Given the description of an element on the screen output the (x, y) to click on. 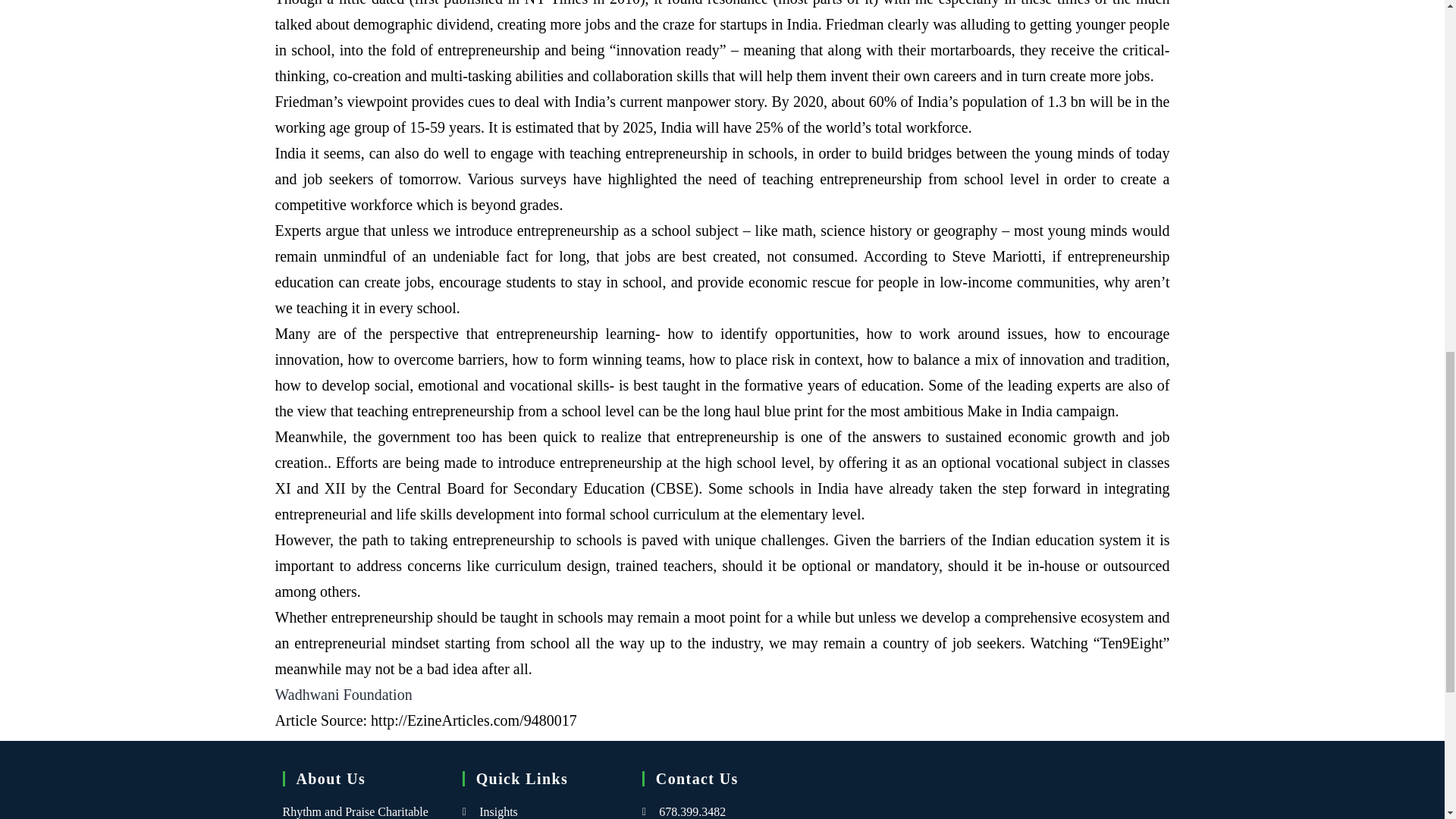
One West Court Square Suite 750 Decatur, Ga. 30030 (1058, 787)
